Given the description of an element on the screen output the (x, y) to click on. 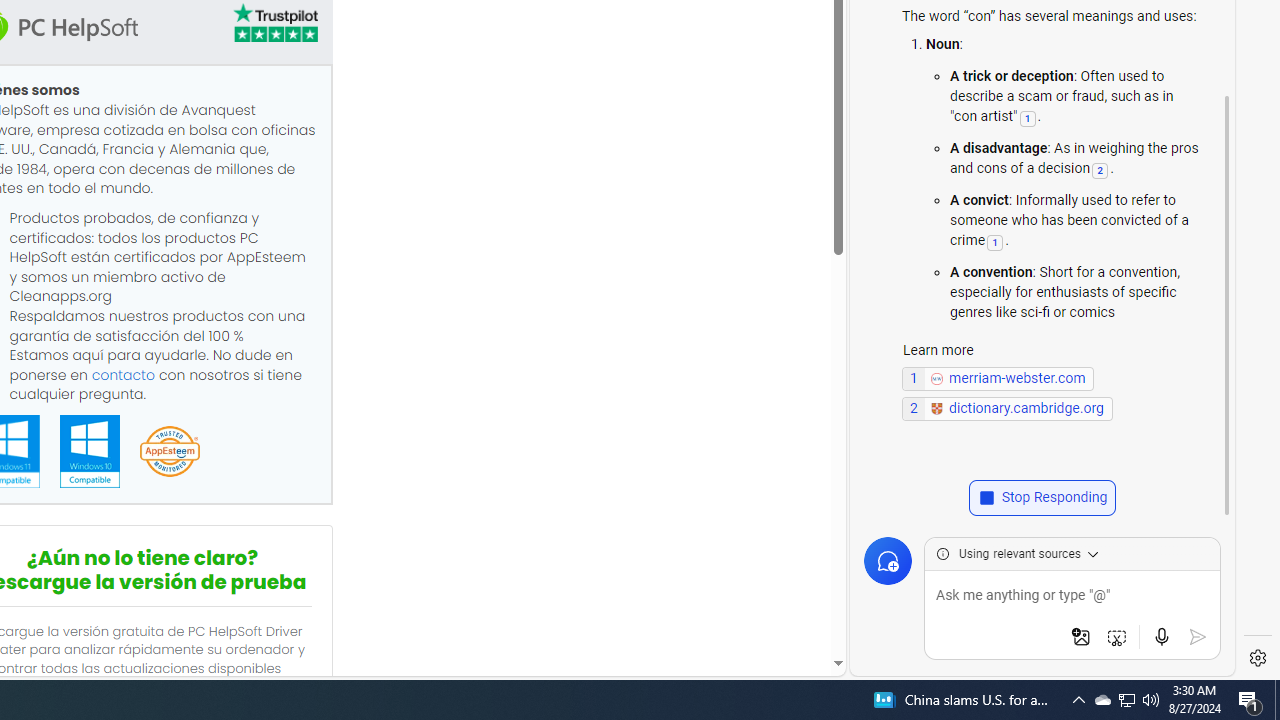
contacto (123, 374)
Windows 10 Compatible (89, 451)
App Esteem (169, 452)
TrustPilot (274, 22)
TrustPilot (274, 25)
App Esteem (169, 452)
